Given the description of an element on the screen output the (x, y) to click on. 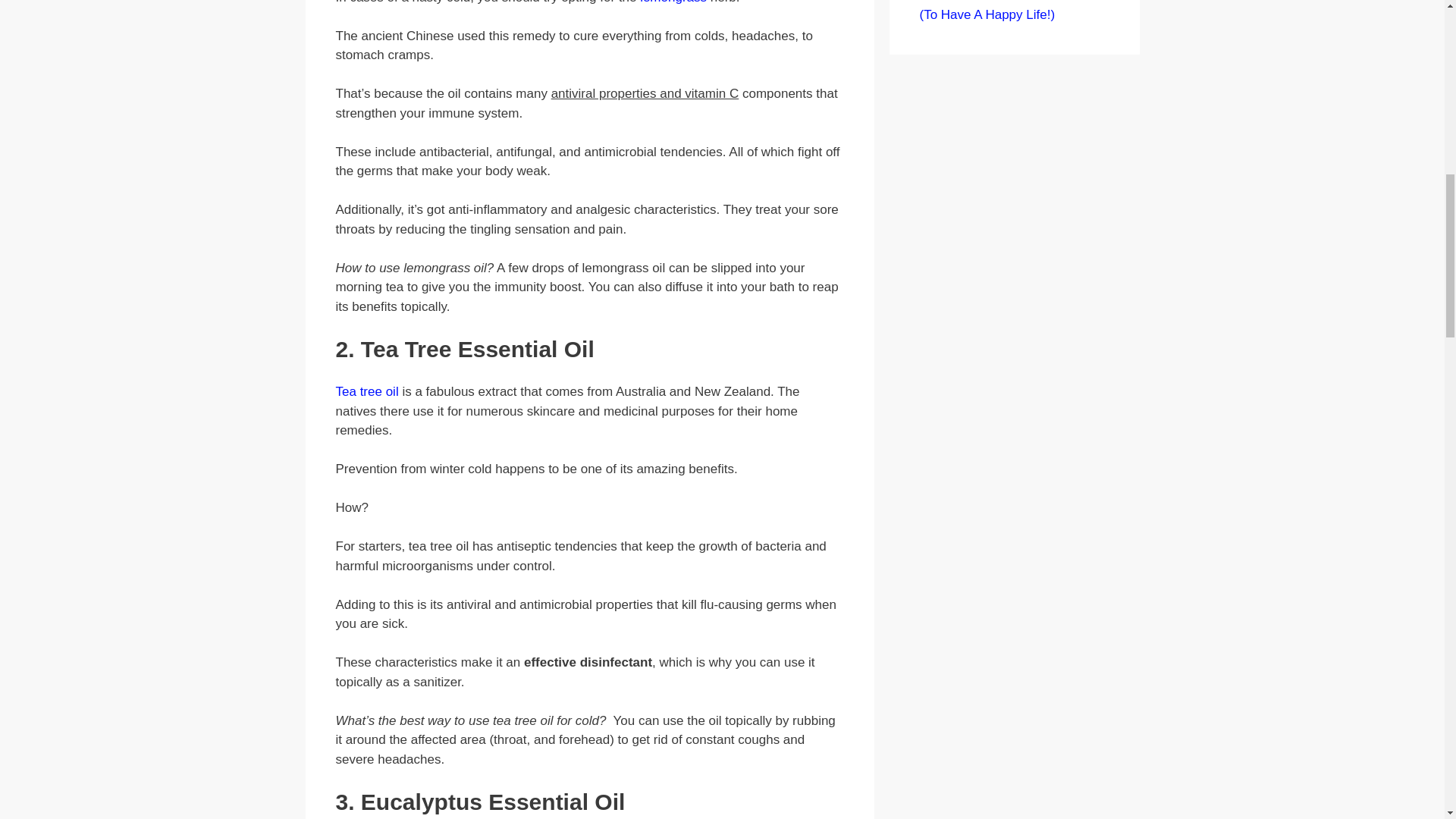
Tea tree oil (365, 391)
lemongrass (673, 2)
